Given the description of an element on the screen output the (x, y) to click on. 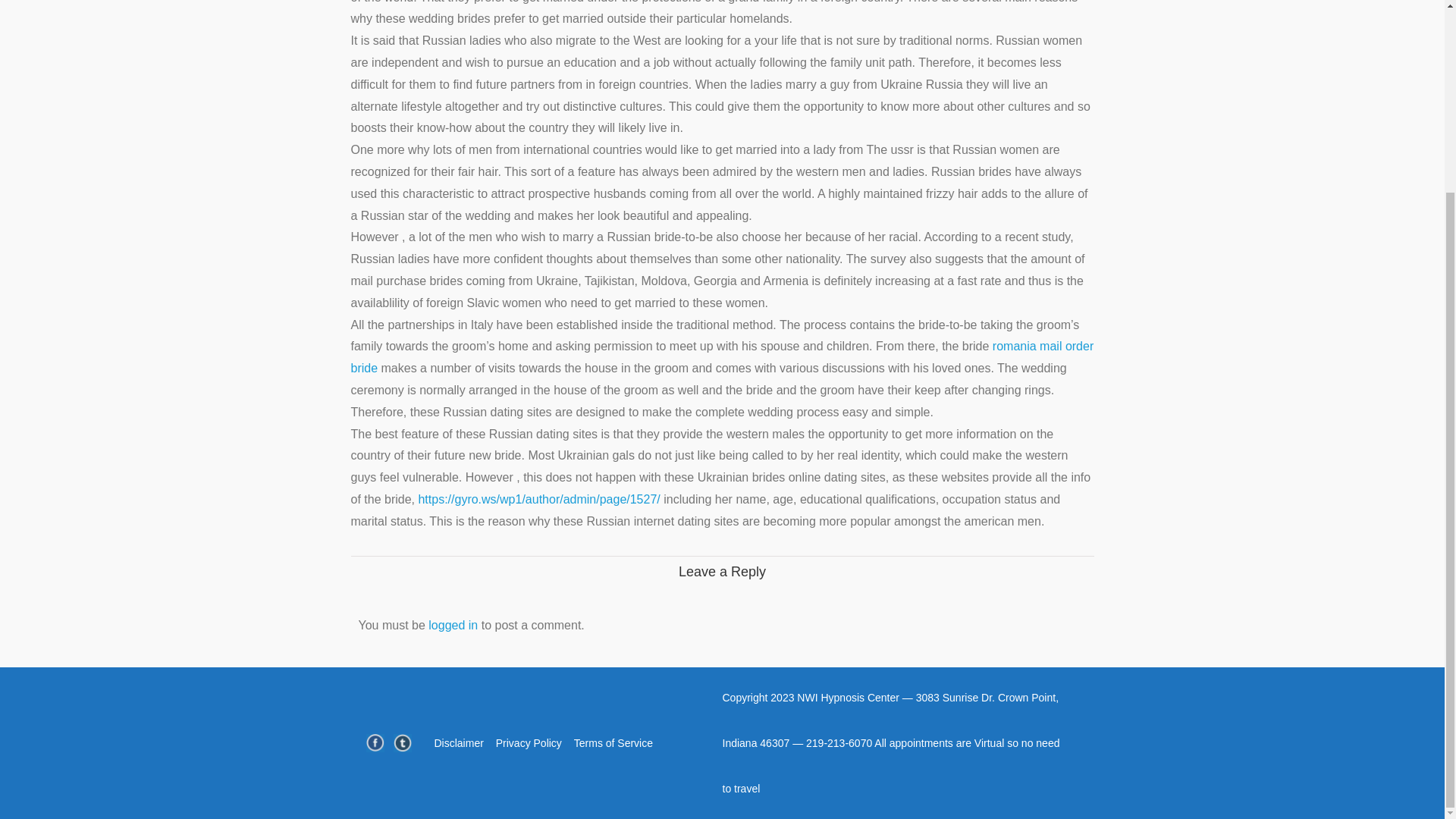
Follow Us on Facebook (374, 742)
romania mail order bride (721, 356)
Privacy Policy (529, 742)
Terms of Service (612, 742)
logged in (452, 625)
Disclaimer (458, 742)
Follow Us on Twitter (401, 742)
